Given the description of an element on the screen output the (x, y) to click on. 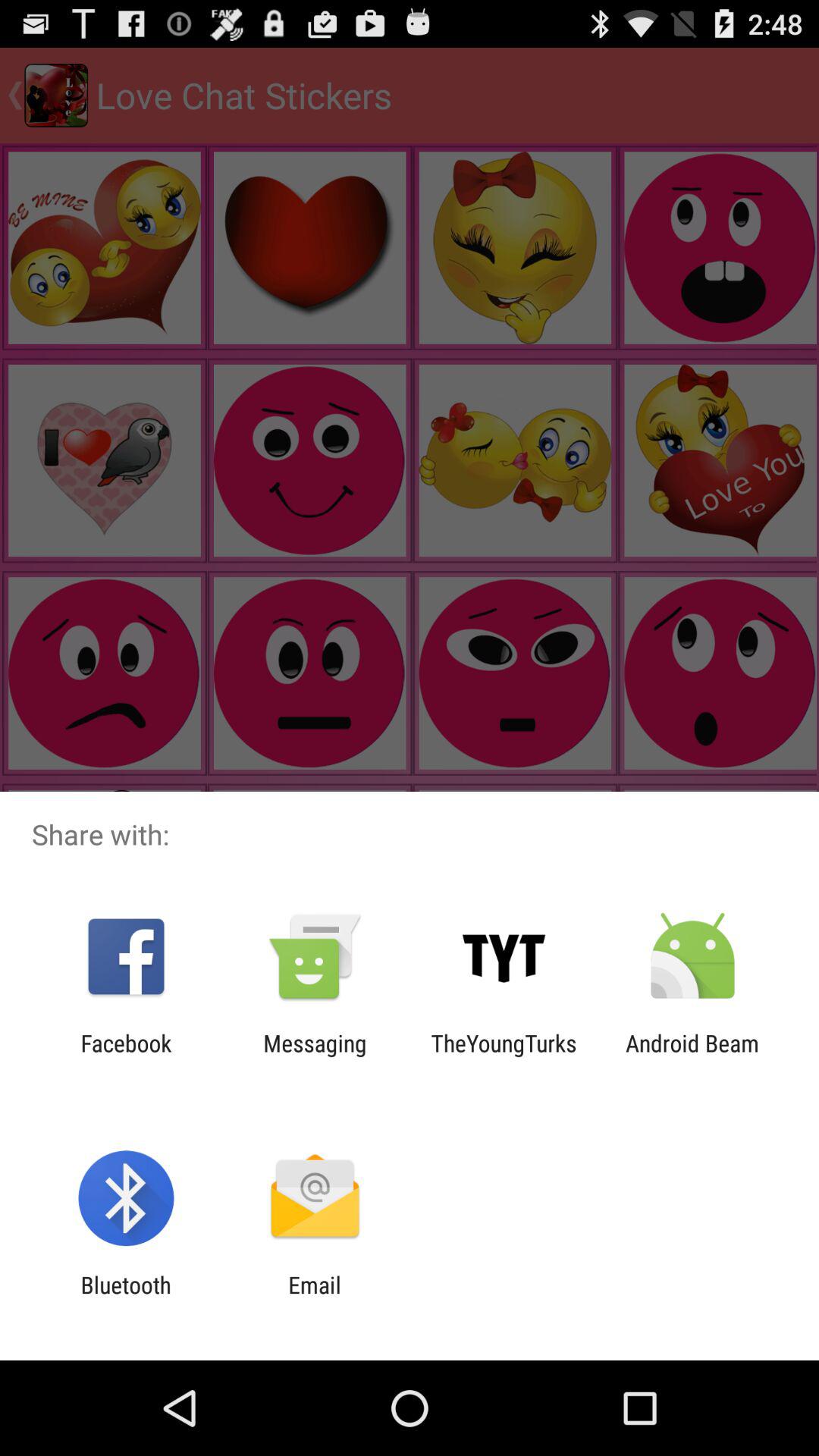
turn off the item to the left of theyoungturks icon (314, 1056)
